Given the description of an element on the screen output the (x, y) to click on. 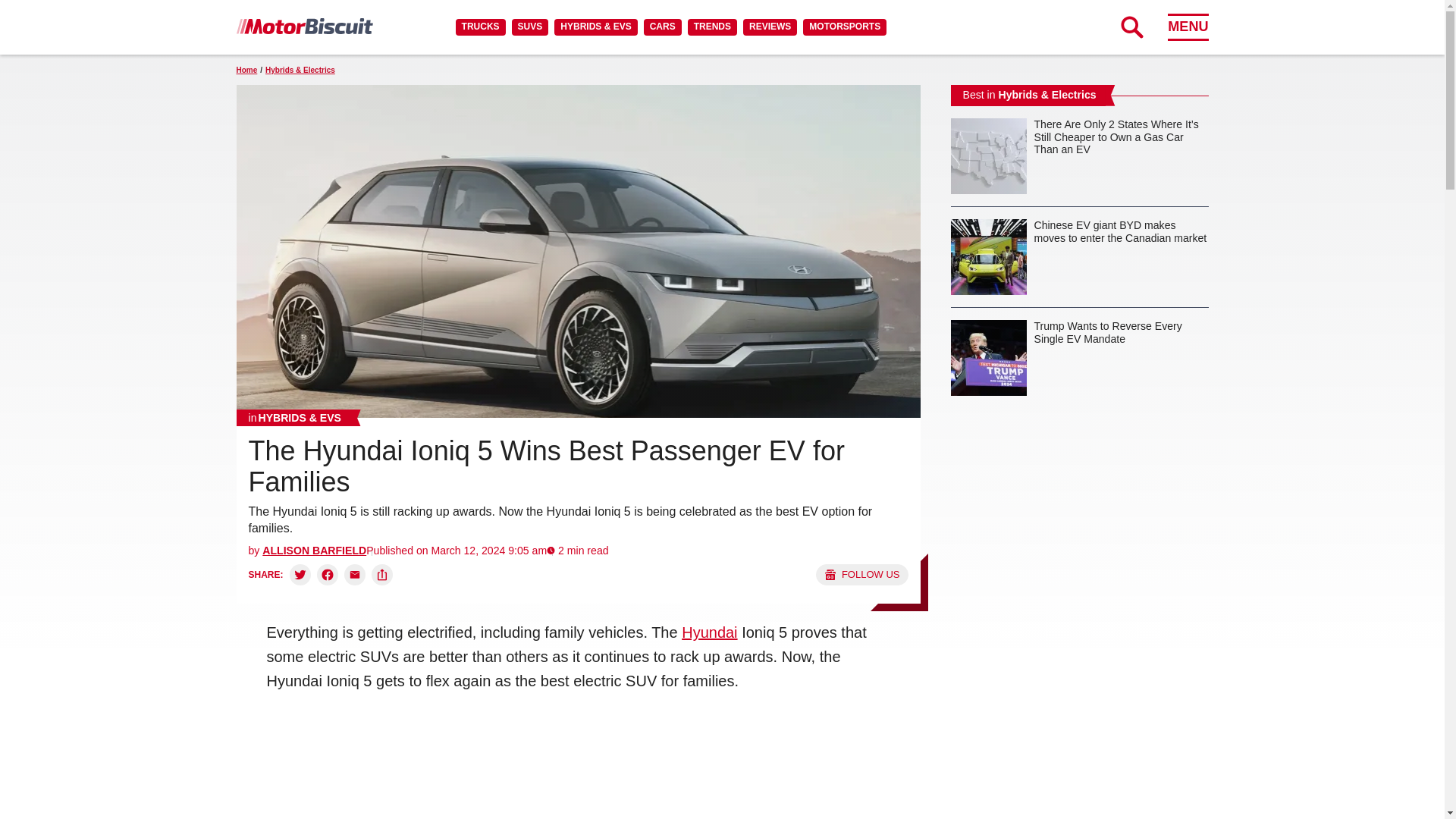
MotorBiscuit (303, 26)
CARS (662, 26)
REVIEWS (769, 26)
Follow us on Google News (861, 574)
TRUCKS (480, 26)
Expand Search (1131, 26)
SUVS (530, 26)
MOTORSPORTS (844, 26)
MENU (1187, 26)
TRENDS (711, 26)
Copy link and share:  (382, 574)
